Given the description of an element on the screen output the (x, y) to click on. 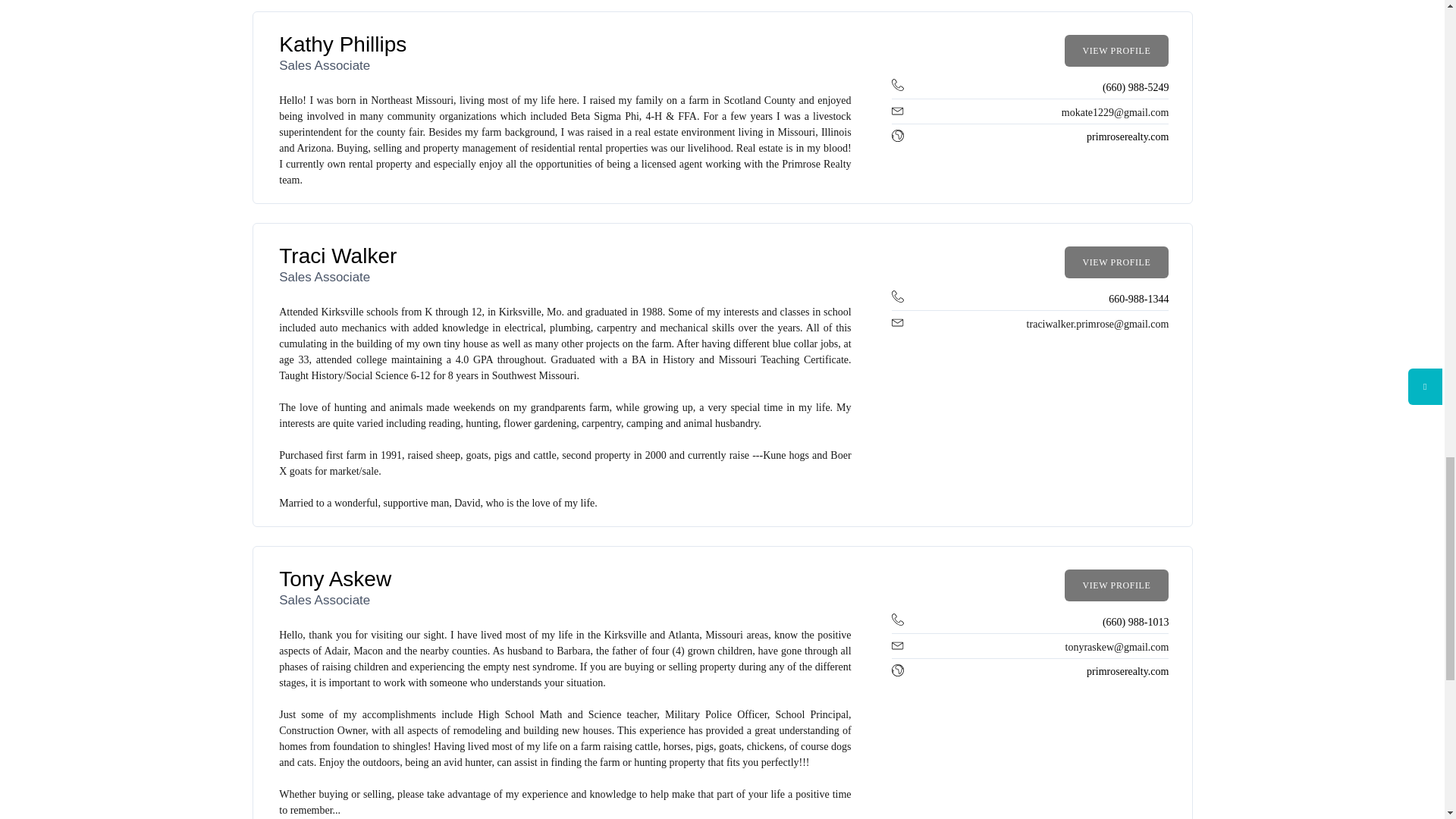
Kathy Phillips (342, 44)
Traci Walker (337, 255)
Tony Askew (335, 578)
